Given the description of an element on the screen output the (x, y) to click on. 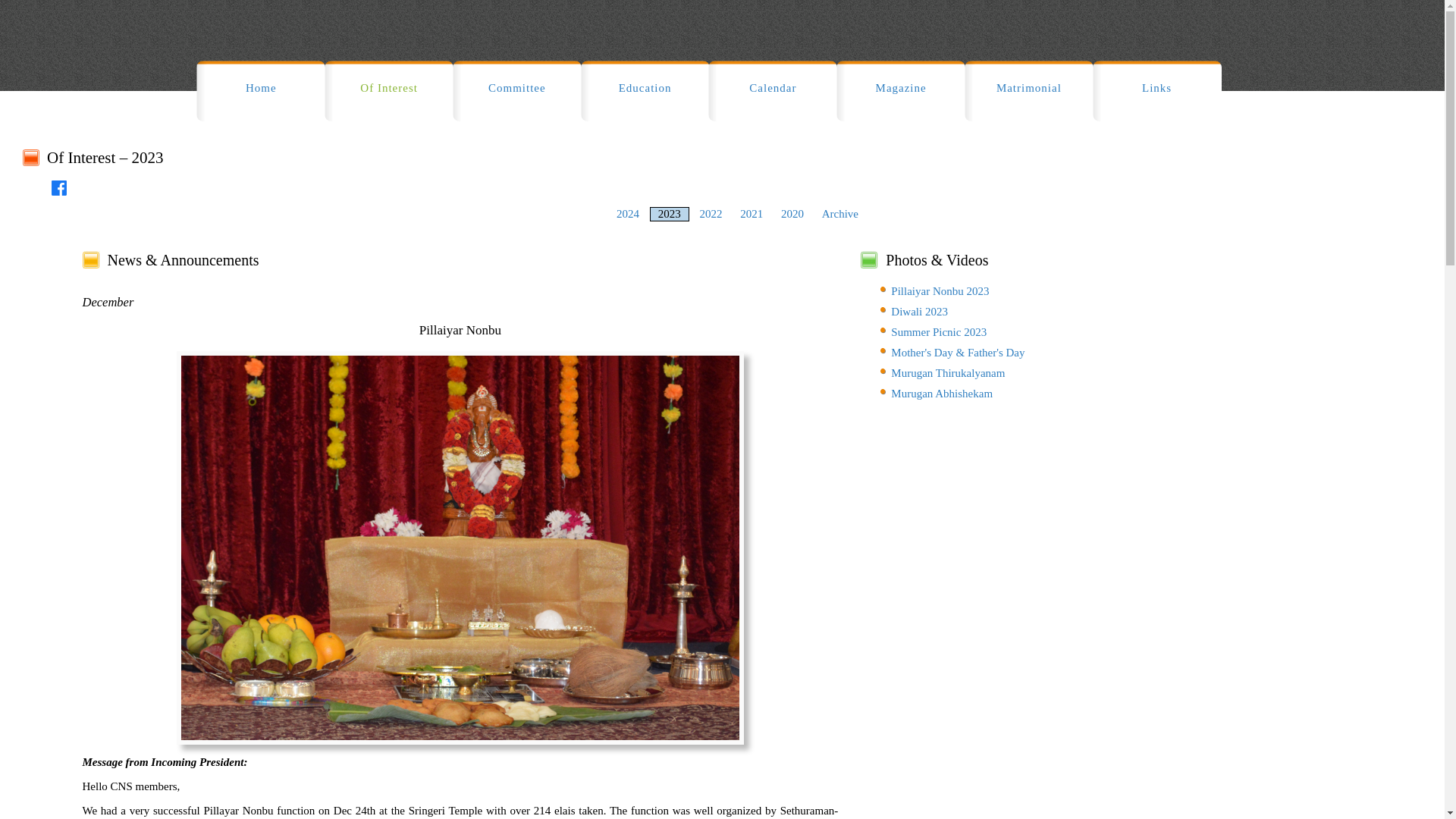
Summer Picnic 2023 (939, 331)
2023 (669, 213)
2020 (791, 213)
Of Interest (388, 90)
Magazine (900, 90)
Calendar (772, 90)
2021 (751, 213)
Pillaiyar Nonbu 2023 (939, 291)
Matrimonial (1028, 90)
Links (1157, 90)
Diwali 2023 (919, 311)
Murugan Abhishekam (941, 393)
Home (260, 90)
2022 (710, 213)
Archive (839, 213)
